Given the description of an element on the screen output the (x, y) to click on. 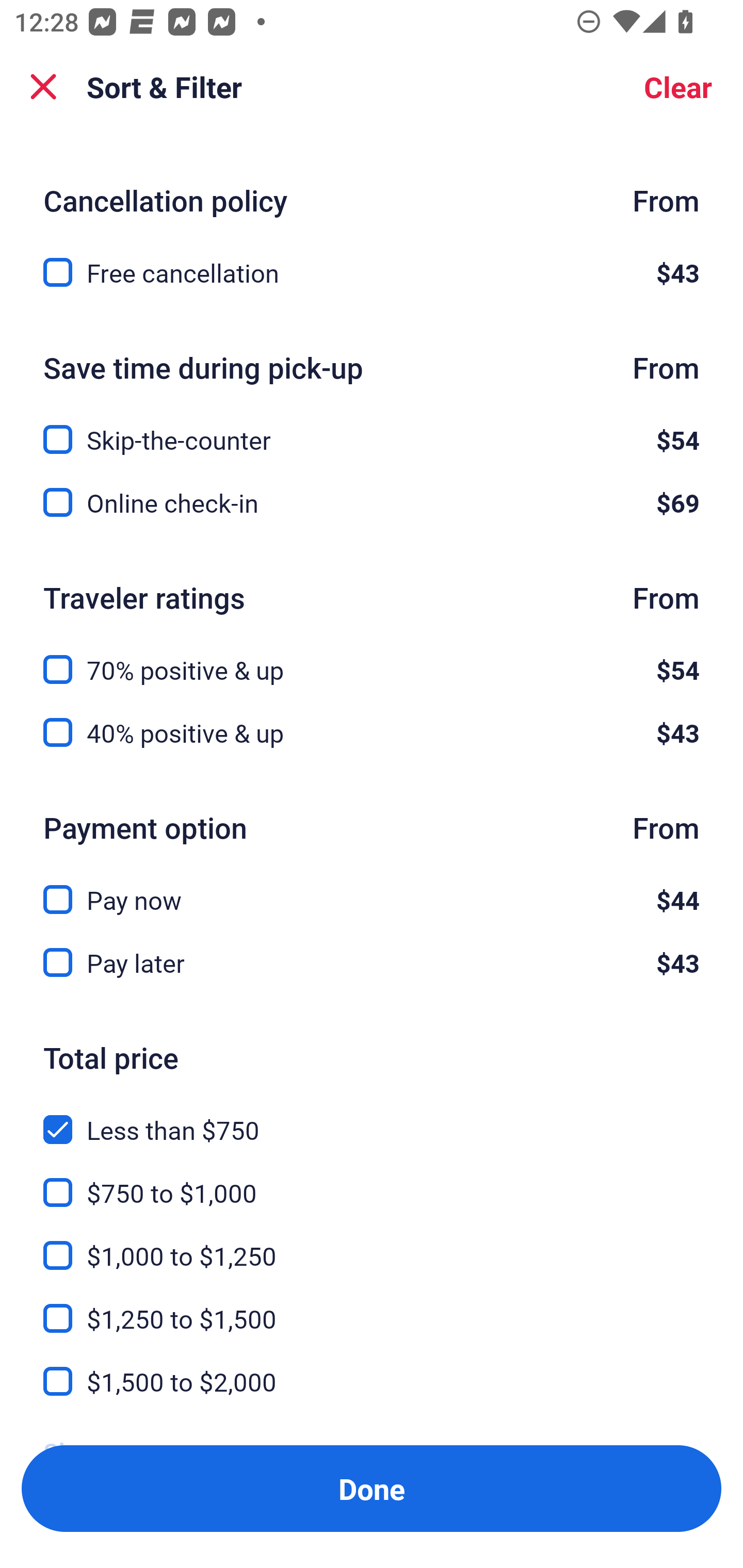
Close Sort and Filter (43, 86)
Clear (677, 86)
Free cancellation, $43 Free cancellation $43 (371, 272)
Skip-the-counter, $54 Skip-the-counter $54 (371, 427)
Online check-in, $69 Online check-in $69 (371, 502)
70% positive & up, $54 70% positive & up $54 (371, 658)
40% positive & up, $43 40% positive & up $43 (371, 732)
Pay now, $44 Pay now $44 (371, 888)
Pay later, $43 Pay later $43 (371, 963)
Less than $750, Less than $750 (371, 1117)
$750 to $1,000, $750 to $1,000 (371, 1180)
$1,000 to $1,250, $1,000 to $1,250 (371, 1243)
$1,250 to $1,500, $1,250 to $1,500 (371, 1306)
$1,500 to $2,000, $1,500 to $2,000 (371, 1382)
Apply and close Sort and Filter Done (371, 1488)
